Given the description of an element on the screen output the (x, y) to click on. 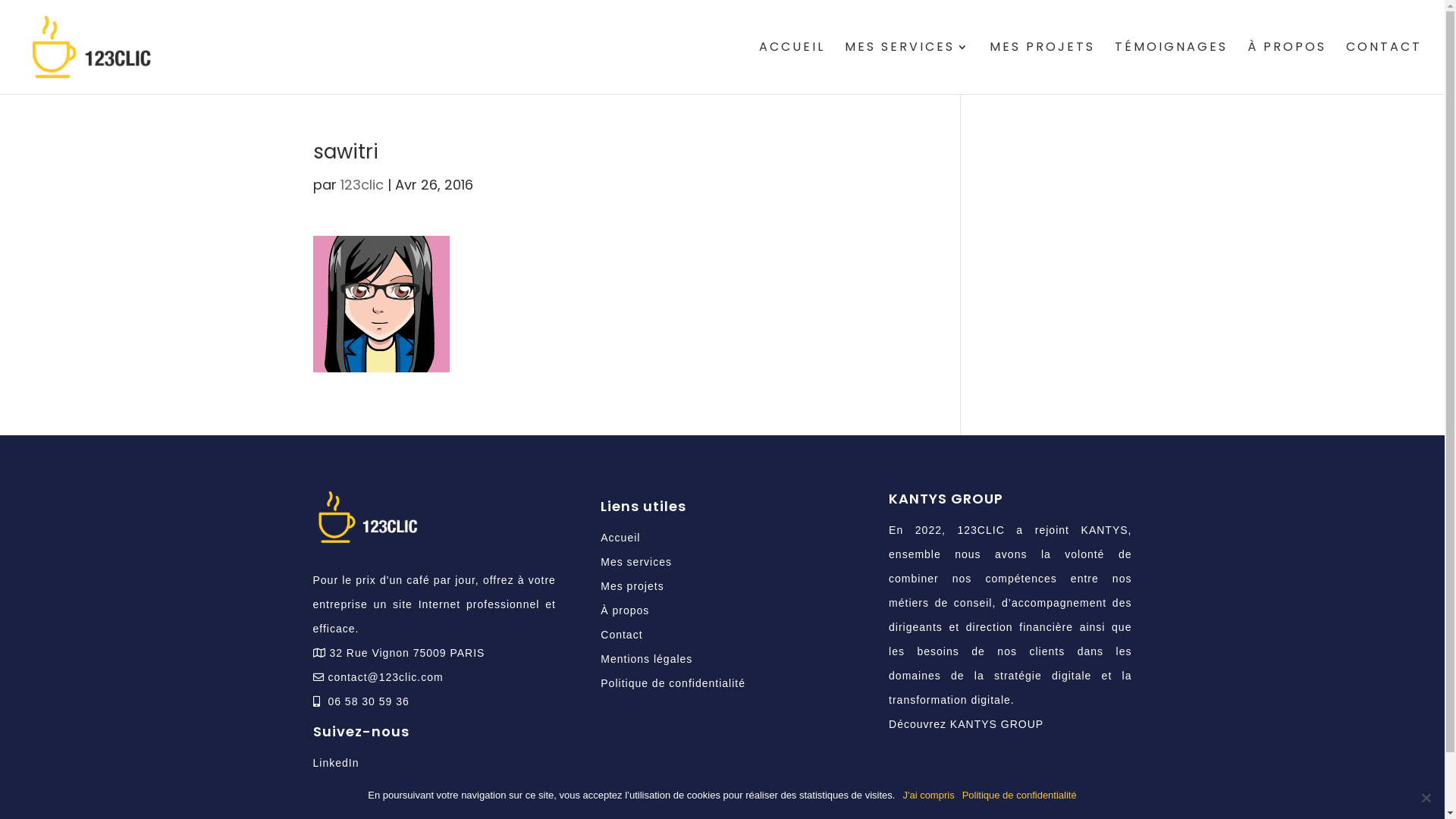
Accueil Element type: text (620, 537)
J'ai compris Element type: text (927, 795)
CONTACT Element type: text (1383, 67)
ACCUEIL Element type: text (792, 67)
contact@123clic.com Element type: text (383, 677)
123clic Element type: text (360, 184)
Contact Element type: text (621, 634)
MES SERVICES Element type: text (906, 67)
Mes services Element type: text (635, 561)
No Element type: hover (1425, 797)
06 58 30 59 36 Element type: text (367, 701)
LinkedIn Element type: text (335, 762)
KANTYS Element type: text (1104, 530)
Mes projets Element type: text (631, 586)
MES PROJETS Element type: text (1042, 67)
